Given the description of an element on the screen output the (x, y) to click on. 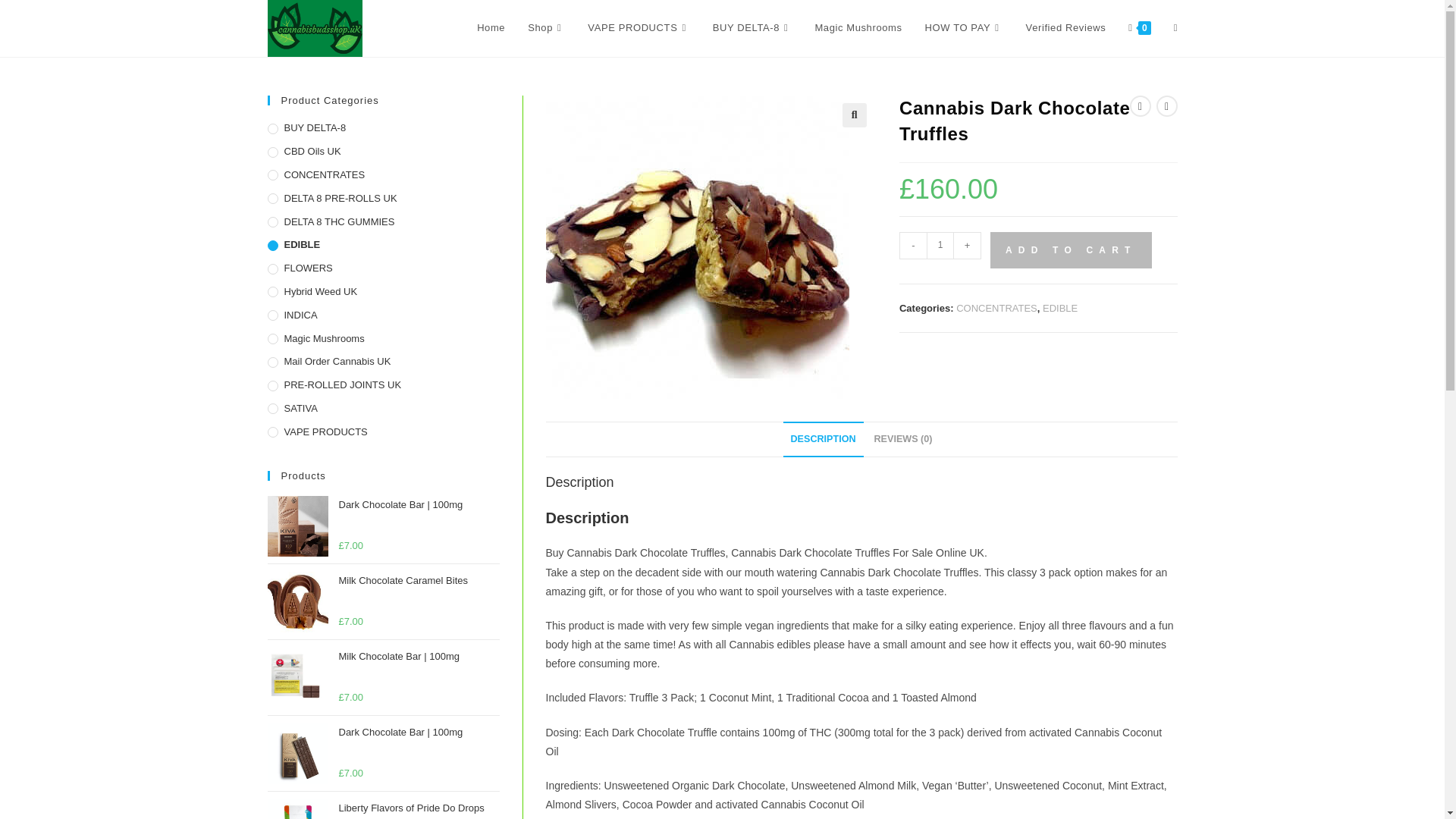
Verified Reviews (1066, 28)
1 (939, 245)
0 (1138, 28)
Cannabis -Dark -Chocolate- Truffles-uk (697, 246)
Shop (546, 28)
HOW TO PAY (964, 28)
Magic Mushrooms (857, 28)
VAPE PRODUCTS (638, 28)
BUY DELTA-8 (752, 28)
340 (1104, 24)
Home (490, 28)
